Given the description of an element on the screen output the (x, y) to click on. 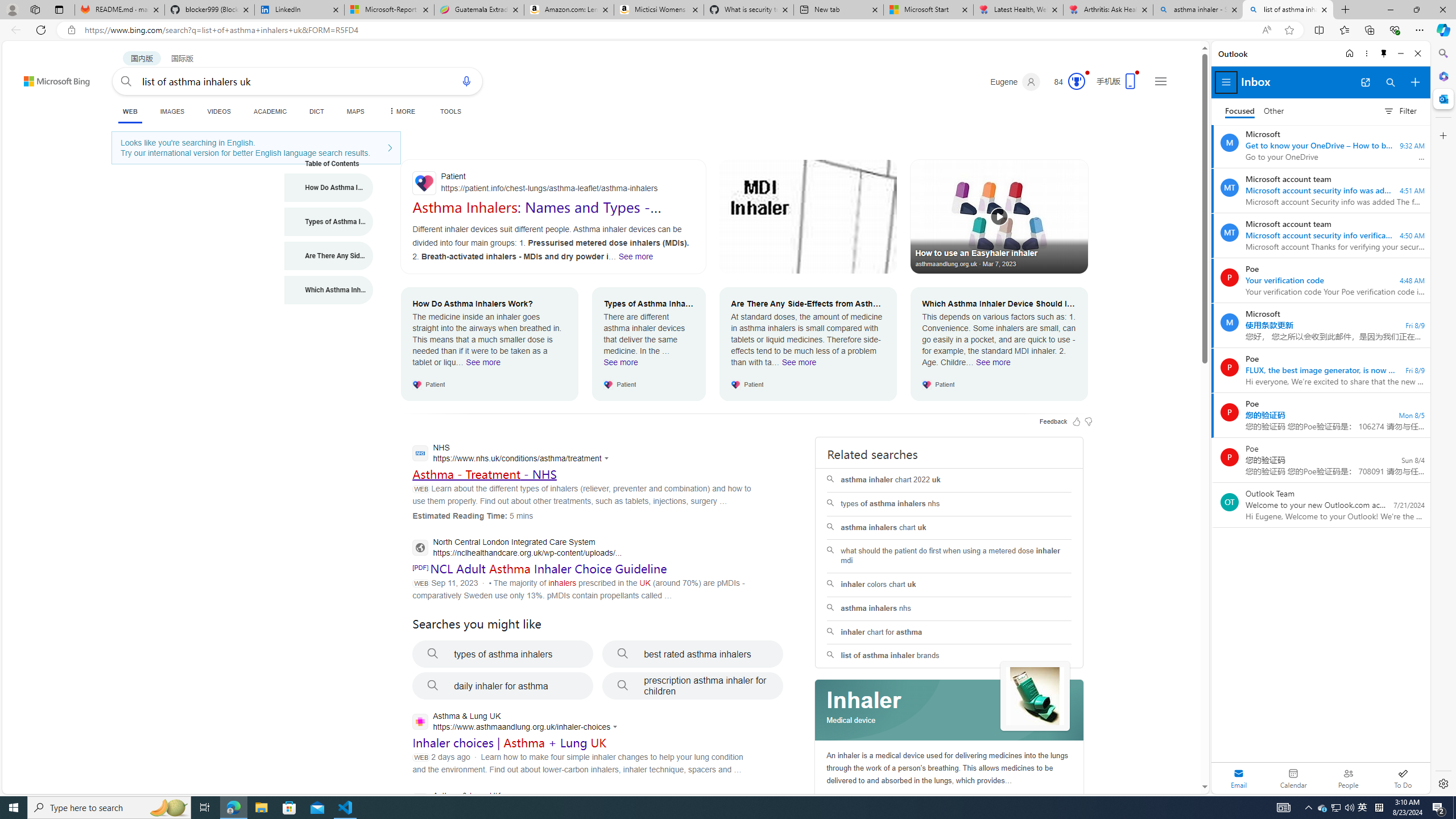
asthma inhalers nhs (949, 608)
Which Asthma Inhaler Device Should I use? (328, 290)
best rated asthma inhalers (692, 653)
Focused (1239, 110)
WEB (129, 111)
Class: spl_logobg (949, 710)
See more images of Inhaler (1035, 697)
Folder navigation (1225, 82)
